Given the description of an element on the screen output the (x, y) to click on. 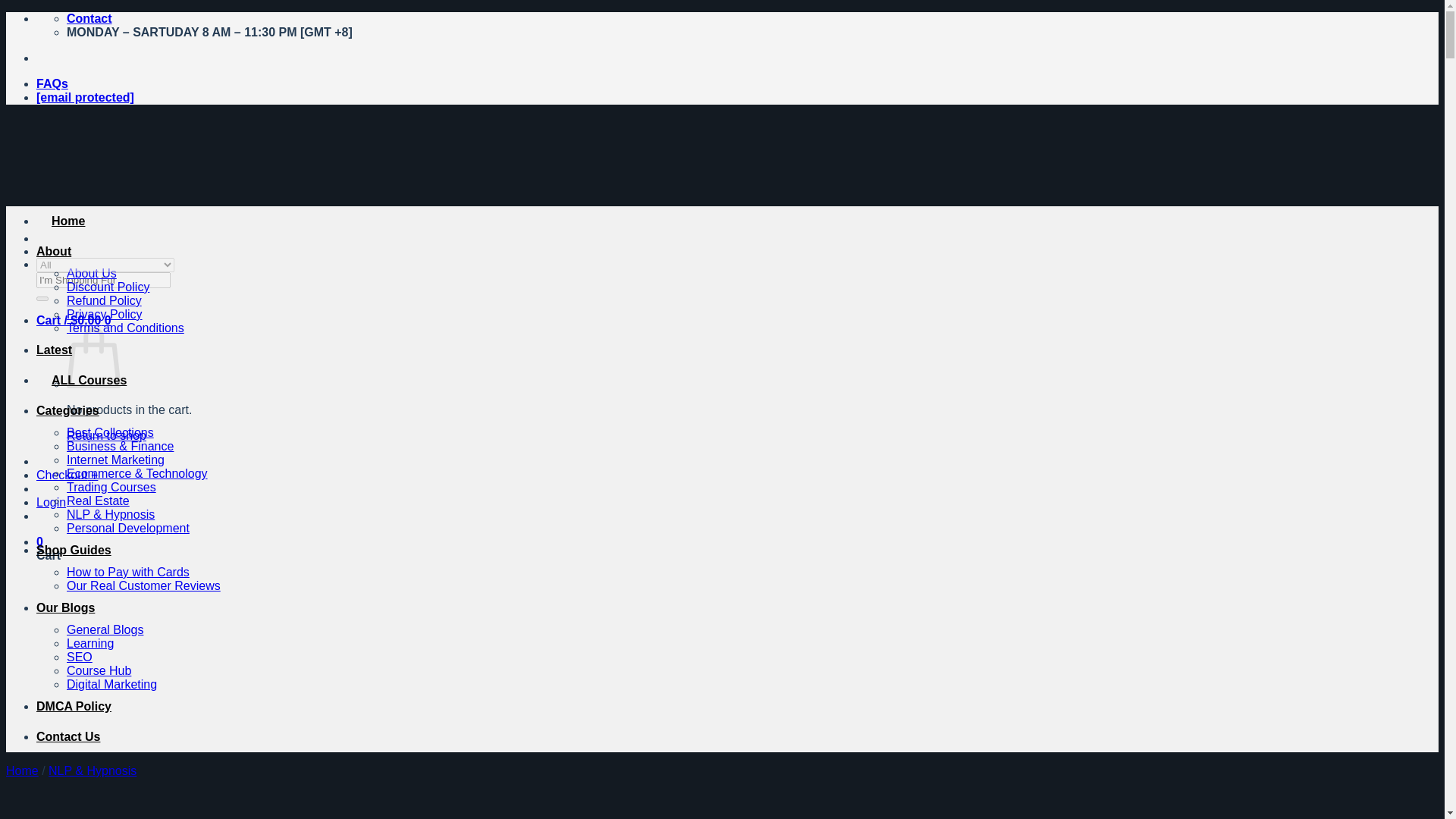
Home (60, 220)
Discount Policy (107, 286)
About Us (91, 273)
Refund Policy (103, 300)
Login (50, 502)
Terms and Conditions (125, 327)
Privacy Policy (104, 314)
Personal Development (127, 527)
About (53, 250)
General Blogs (104, 629)
